Given the description of an element on the screen output the (x, y) to click on. 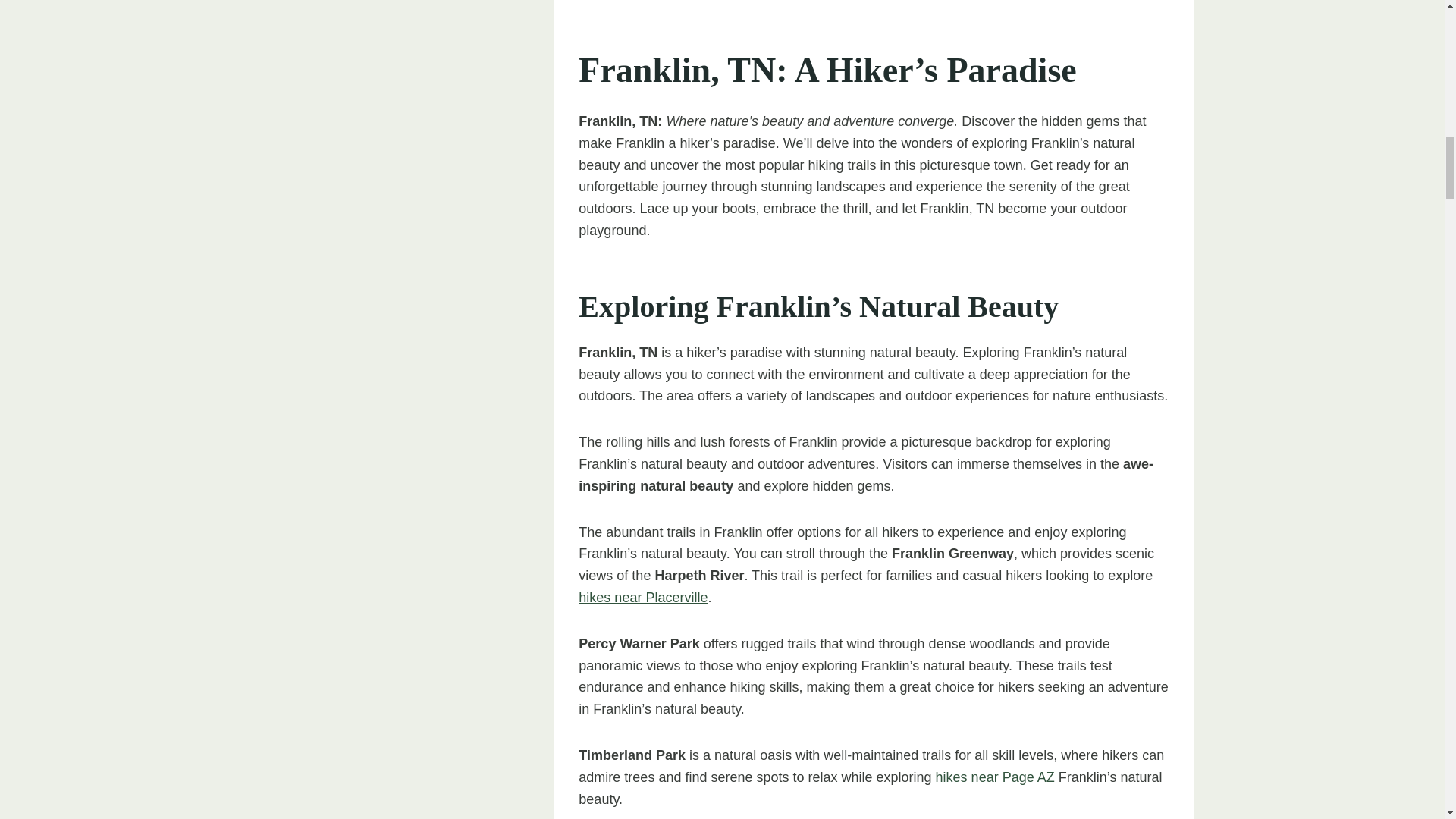
hikes near Placerville (642, 597)
hikes near Page AZ (995, 776)
